Given the description of an element on the screen output the (x, y) to click on. 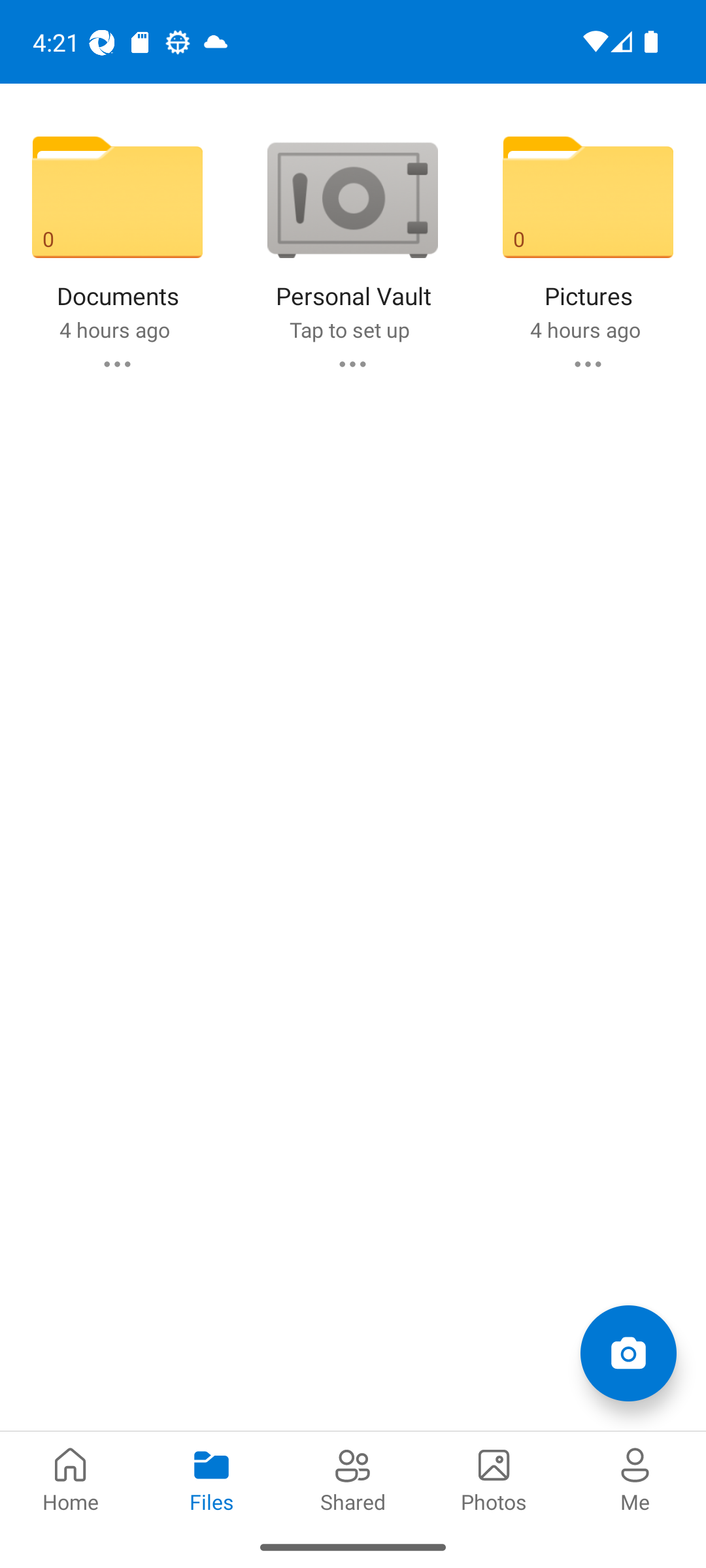
4 hours ago (113, 329)
Tap to set up (348, 329)
4 hours ago (584, 329)
Documents commands (116, 363)
Personal Vault commands (352, 363)
Pictures commands (587, 363)
Add items Scan (628, 1352)
Home pivot Home (70, 1478)
Shared pivot Shared (352, 1478)
Photos pivot Photos (493, 1478)
Me pivot Me (635, 1478)
